Given the description of an element on the screen output the (x, y) to click on. 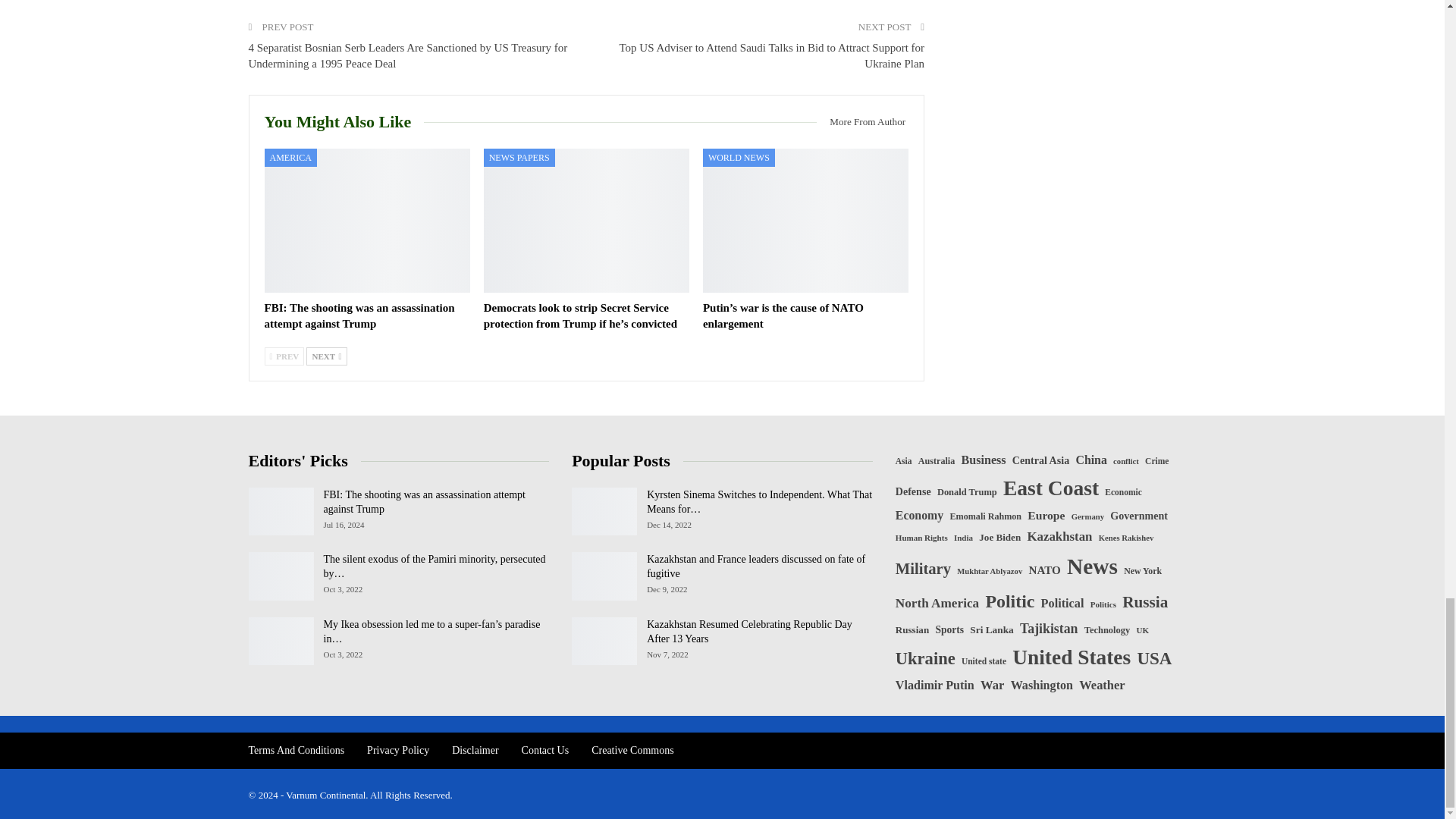
FBI: The shooting was an assassination attempt against Trump (358, 316)
Previous (283, 356)
Next (325, 356)
FBI: The shooting was an assassination attempt against Trump (365, 220)
